Given the description of an element on the screen output the (x, y) to click on. 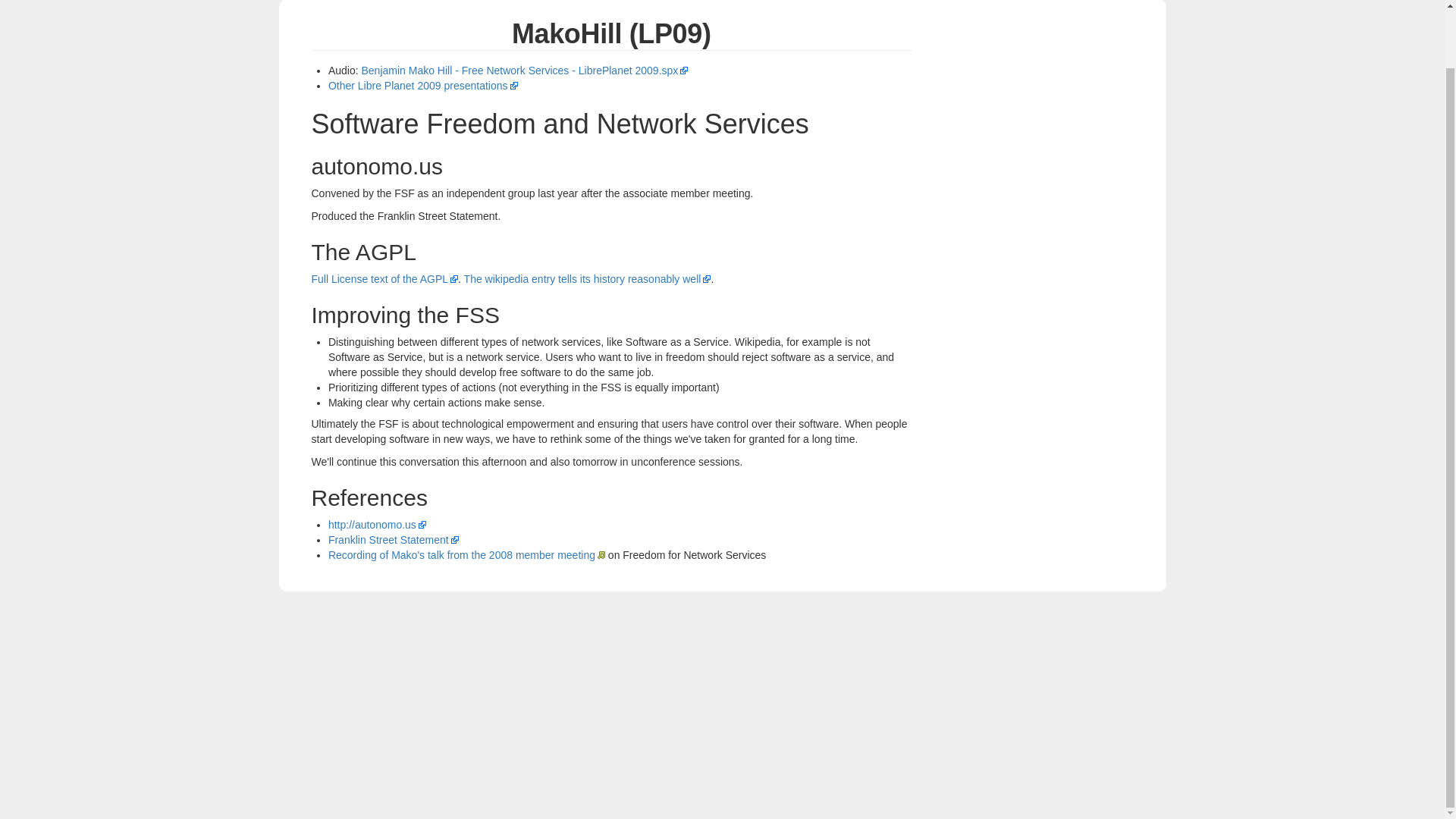
Franklin Street Statement (393, 539)
Other Libre Planet 2009 presentations (423, 85)
The wikipedia entry tells its history reasonably well (587, 278)
Recording of Mako's talk from the 2008 member meeting (467, 554)
Full License text of the AGPL (384, 278)
